Given the description of an element on the screen output the (x, y) to click on. 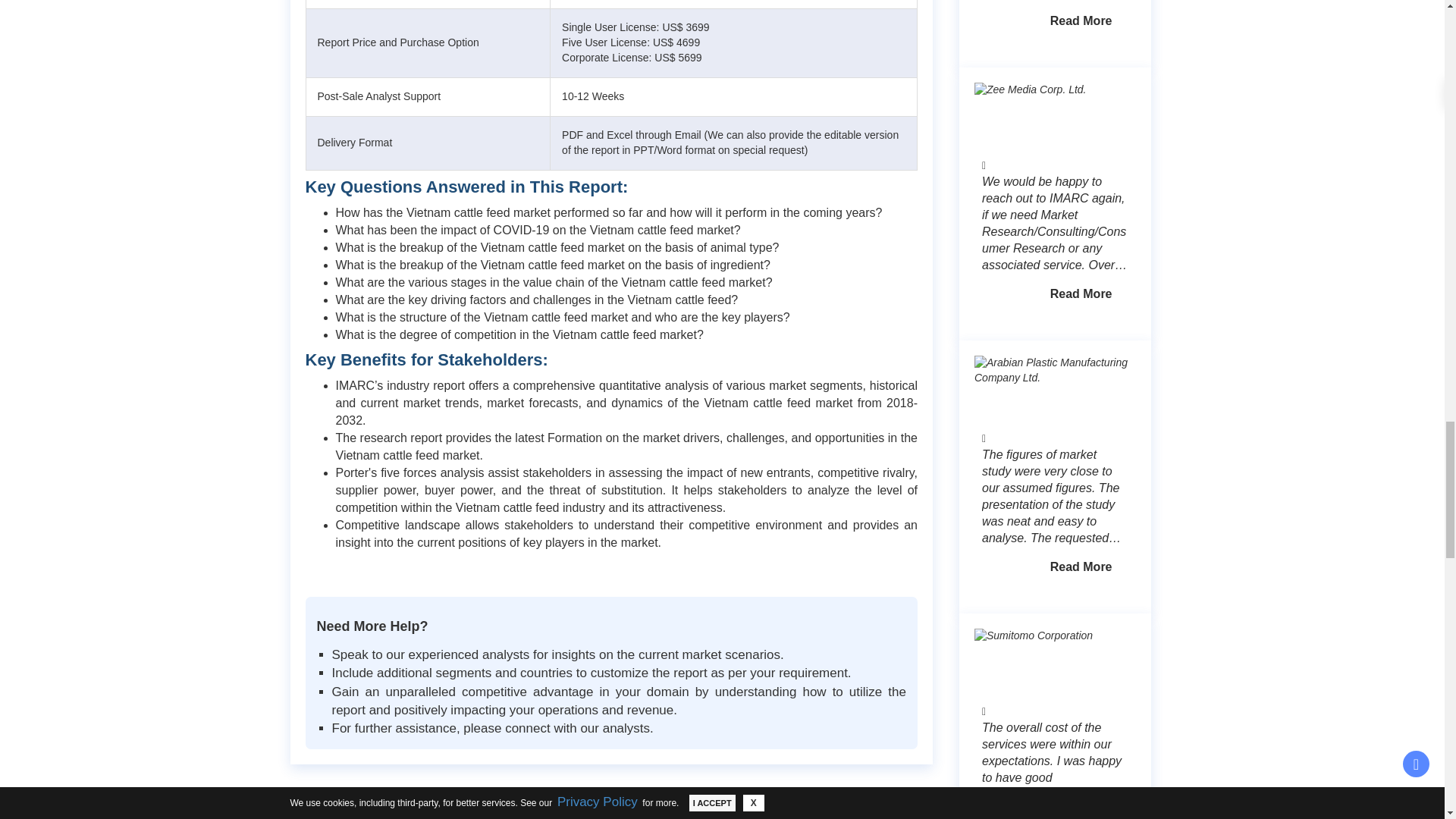
Know more (1081, 294)
Know more (1081, 21)
Know more (1081, 567)
